Given the description of an element on the screen output the (x, y) to click on. 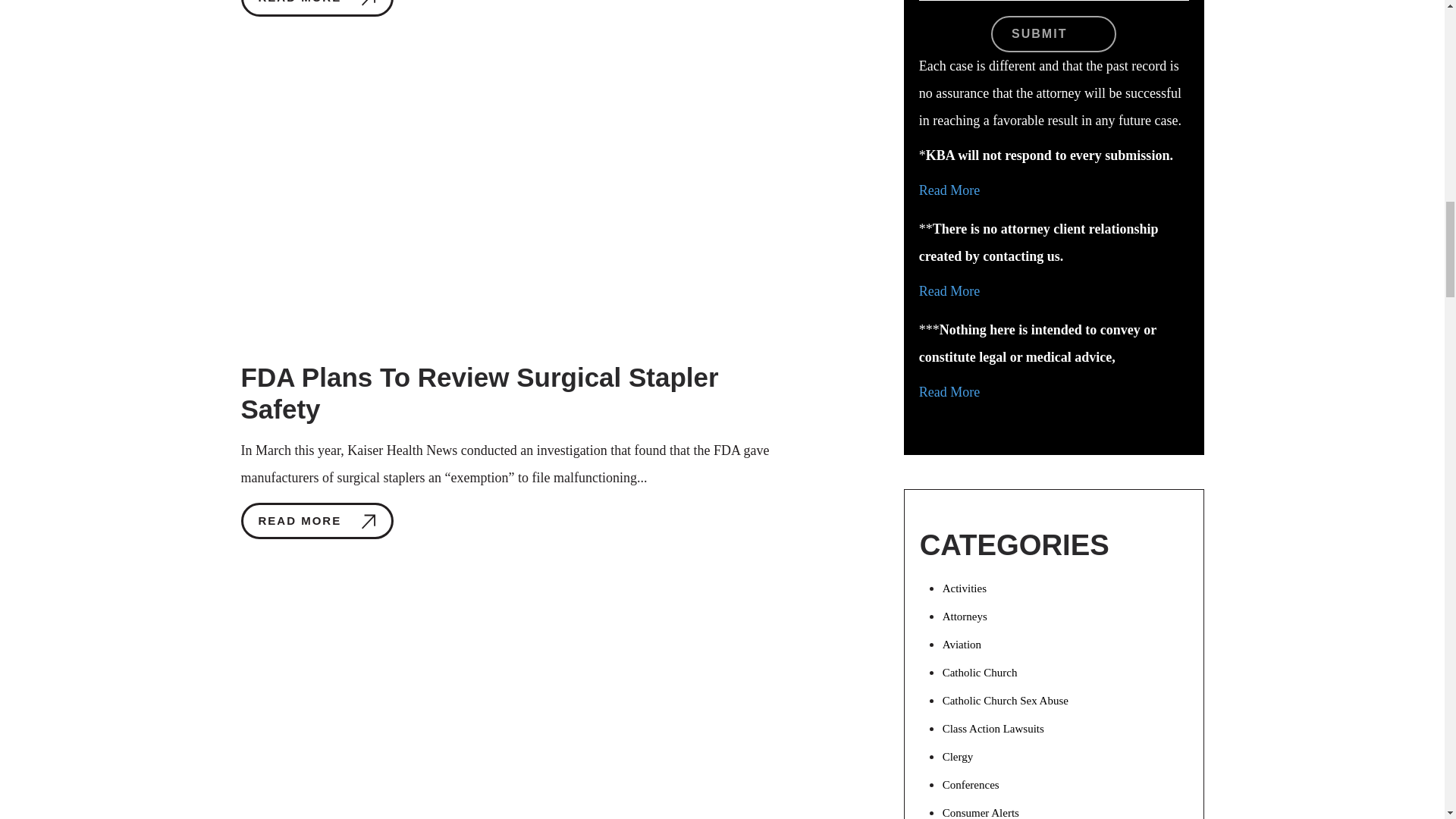
View all post filed under Conferences (970, 784)
View all post filed under Aviation (961, 644)
View all post filed under Consumer Alerts (980, 812)
View all post filed under Clergy (958, 756)
View all post filed under Catholic Church (979, 672)
View all post filed under Attorneys (964, 616)
View all post filed under Catholic Church Sex Abuse (1005, 700)
View all post filed under Class Action Lawsuits (992, 728)
Submit (1053, 33)
View all post filed under Activities (964, 588)
